Given the description of an element on the screen output the (x, y) to click on. 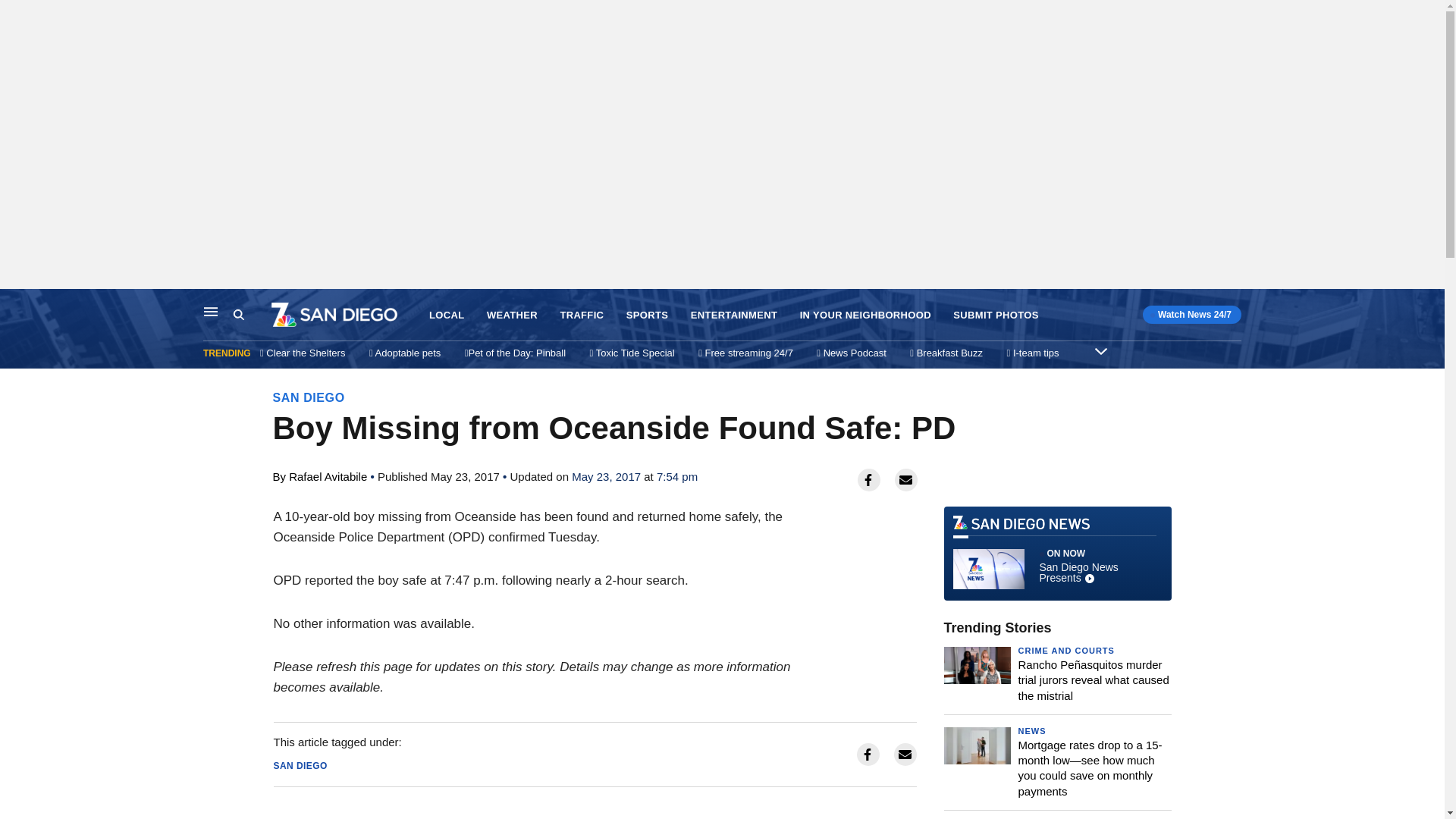
SPORTS (647, 315)
SAN DIEGO (309, 397)
NEWS (1056, 553)
Expand (1031, 730)
CRIME AND COURTS (1100, 350)
IN YOUR NEIGHBORHOOD (1065, 650)
Search (865, 315)
LOCAL (252, 314)
SAN DIEGO (446, 315)
